Given the description of an element on the screen output the (x, y) to click on. 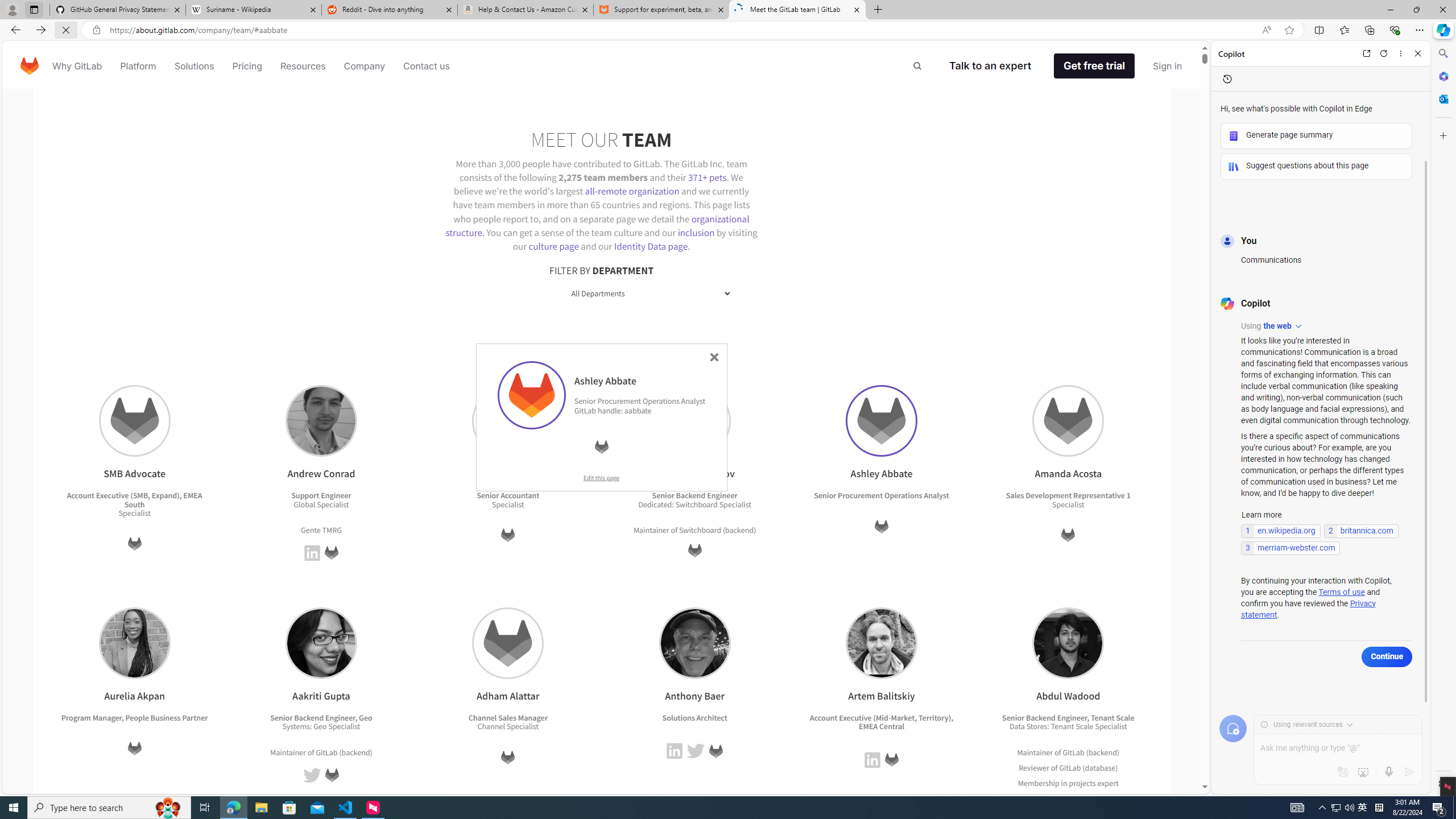
Anthony Baer (694, 642)
Adham Alattar (508, 642)
Maintainer of GitLab (backend) (1067, 752)
aabbate (638, 410)
Get free trial (1094, 65)
Ayesha Zubair (508, 420)
Adham Alattar (507, 642)
Edit this page (601, 477)
Pricing (246, 65)
GitLab home page (29, 65)
Membership in groups expert (1067, 797)
